Given the description of an element on the screen output the (x, y) to click on. 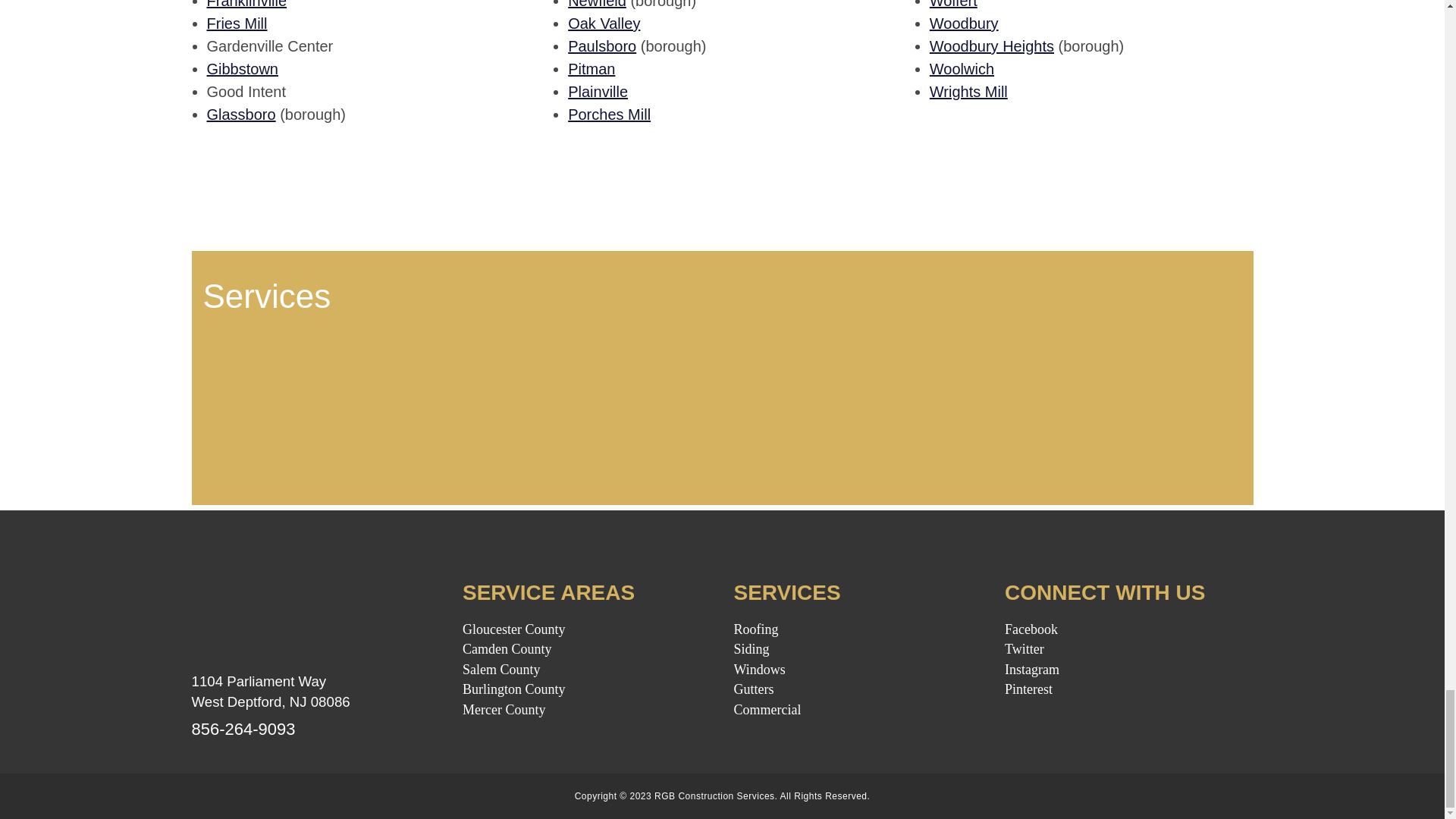
services-1 (324, 402)
services-2 (589, 402)
services-3 (854, 402)
services-4 (1119, 402)
